Given the description of an element on the screen output the (x, y) to click on. 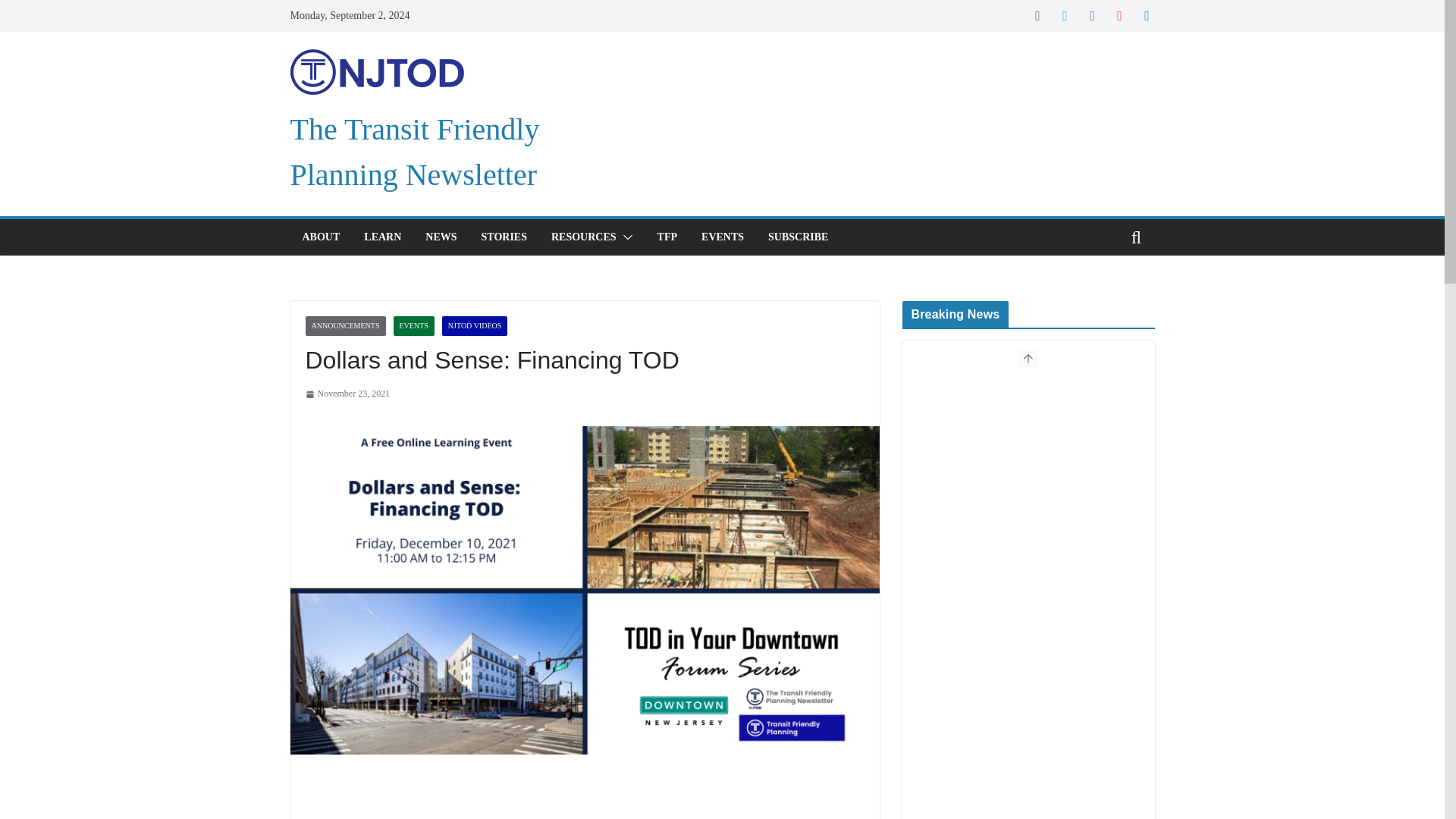
EVENTS (722, 237)
TFP (667, 237)
SUBSCRIBE (798, 237)
LEARN (382, 237)
ANNOUNCEMENTS (344, 325)
NJTOD VIDEOS (474, 325)
STORIES (504, 237)
EVENTS (413, 325)
YouTube video player (729, 798)
The Transit Friendly Planning Newsletter (413, 151)
